Given the description of an element on the screen output the (x, y) to click on. 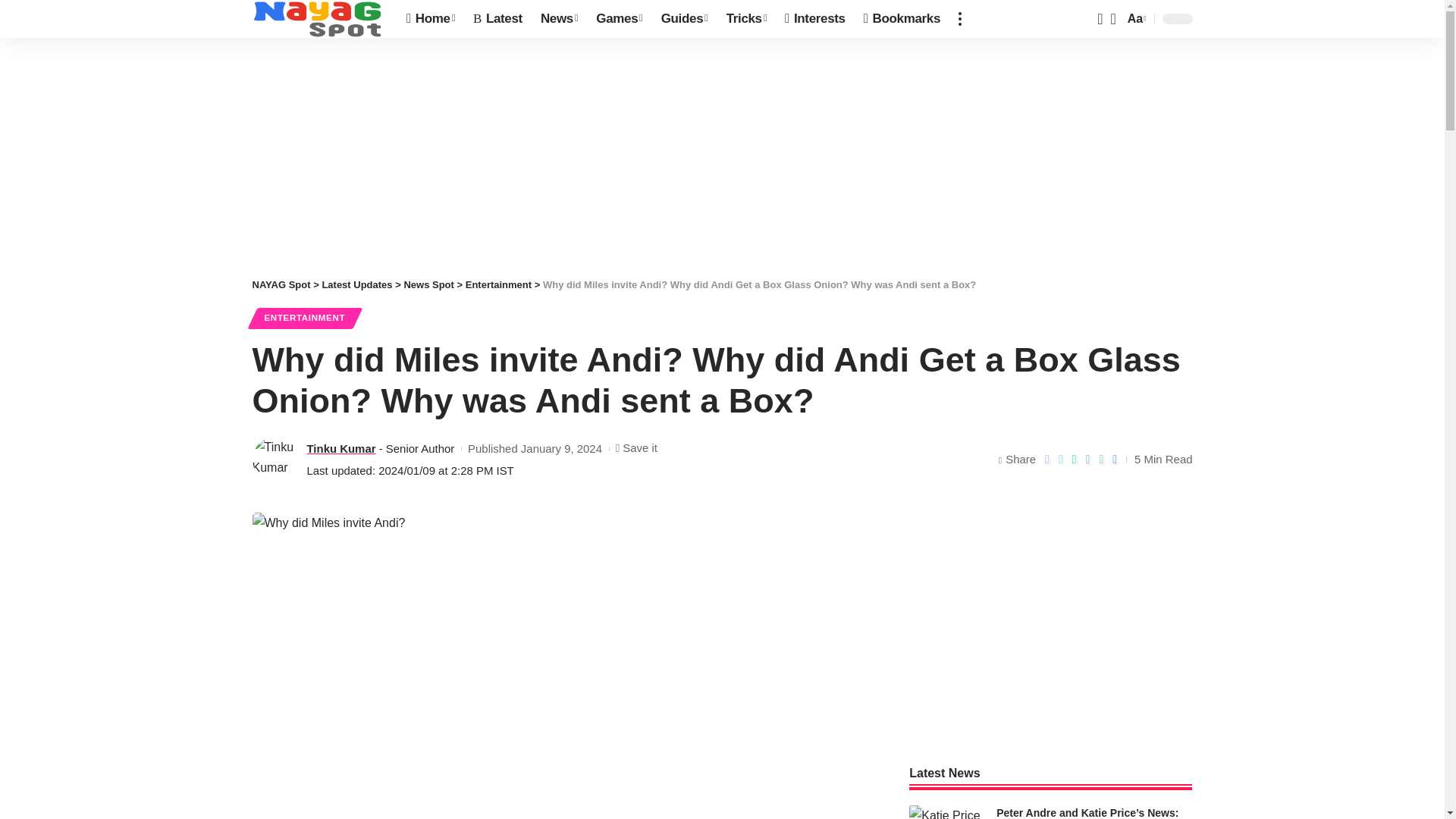
Home (430, 18)
NAYAG Spot (316, 18)
Games (618, 18)
News (558, 18)
Guides (684, 18)
Latest (497, 18)
